Given the description of an element on the screen output the (x, y) to click on. 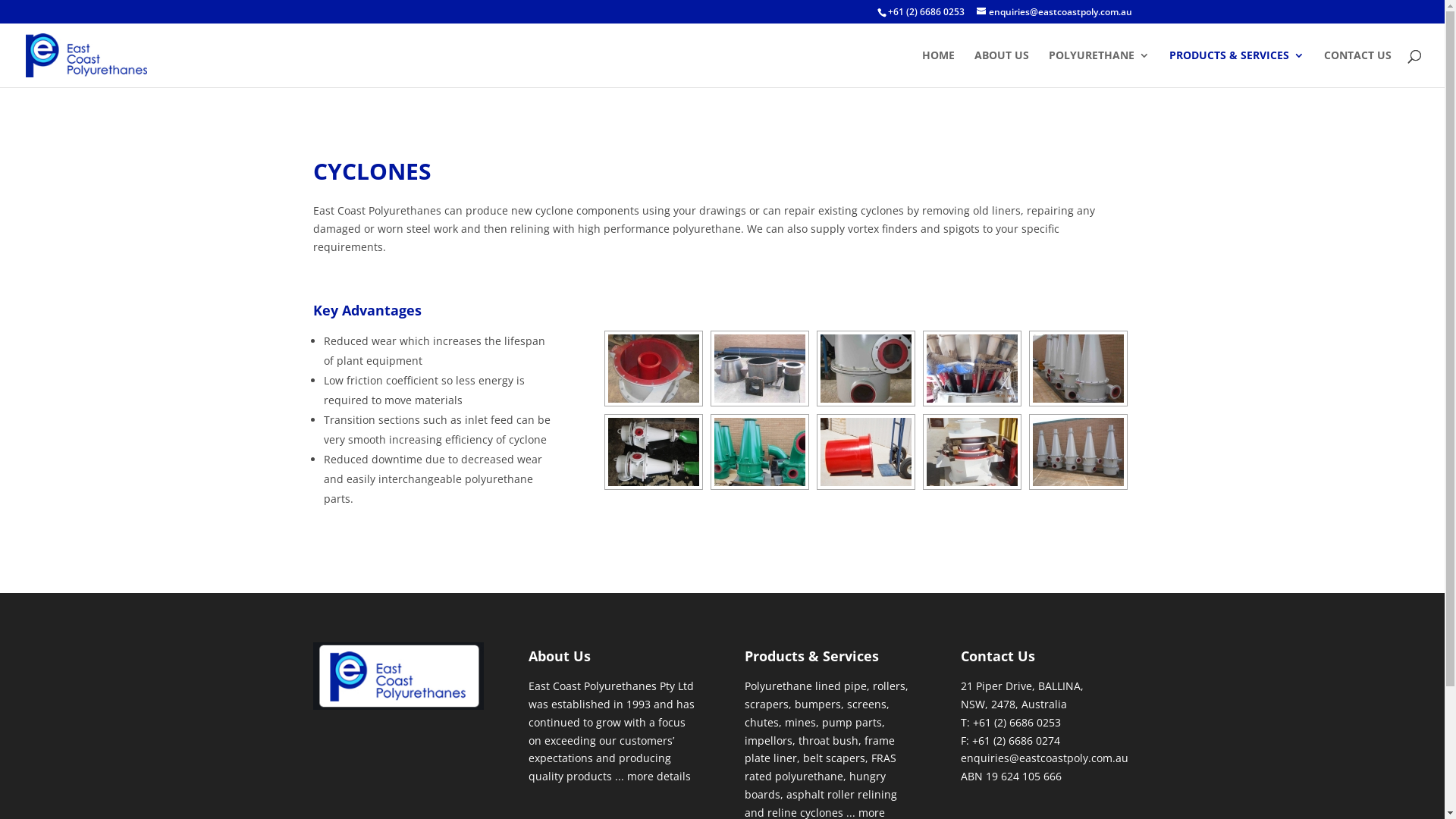
red polyurethane cyclone cones Element type: hover (971, 368)
HOME Element type: text (938, 68)
large polyurethane lined cyclone Element type: hover (759, 368)
cyclone refurbished with polyurethane Element type: hover (759, 451)
polyurethane lined cyclone feedbox and top hat Element type: hover (865, 368)
polyurethane lined cyclones Element type: hover (1077, 451)
refurbished cyclone Element type: hover (971, 451)
POLYURETHANE Element type: text (1098, 68)
ABOUT US Element type: text (1001, 68)
red polyurethane lined cyclones Element type: hover (1077, 368)
PRODUCTS & SERVICES Element type: text (1236, 68)
CONTACT US Element type: text (1357, 68)
large cyclone spigot Element type: hover (865, 451)
enquiries@eastcoastpoly.com.au Element type: text (1054, 11)
cyclone feed box and vortex finder polyurethane lined Element type: hover (653, 368)
more details Element type: text (658, 775)
